Given the description of an element on the screen output the (x, y) to click on. 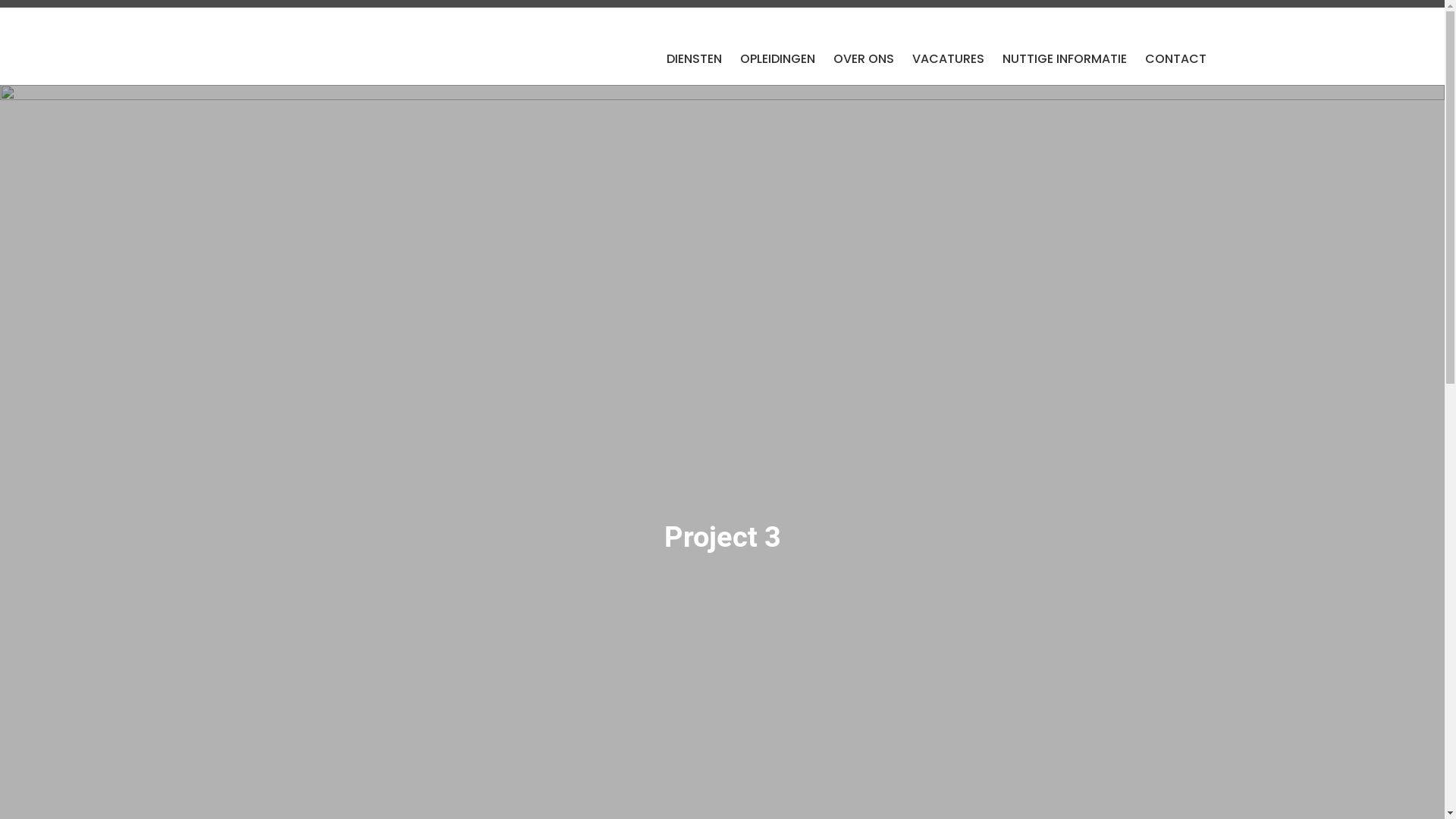
VACATURES Element type: text (947, 58)
OVER ONS Element type: text (862, 58)
CONTACT Element type: text (1175, 58)
OPLEIDINGEN Element type: text (777, 58)
NUTTIGE INFORMATIE Element type: text (1064, 58)
DIENSTEN Element type: text (693, 58)
